Given the description of an element on the screen output the (x, y) to click on. 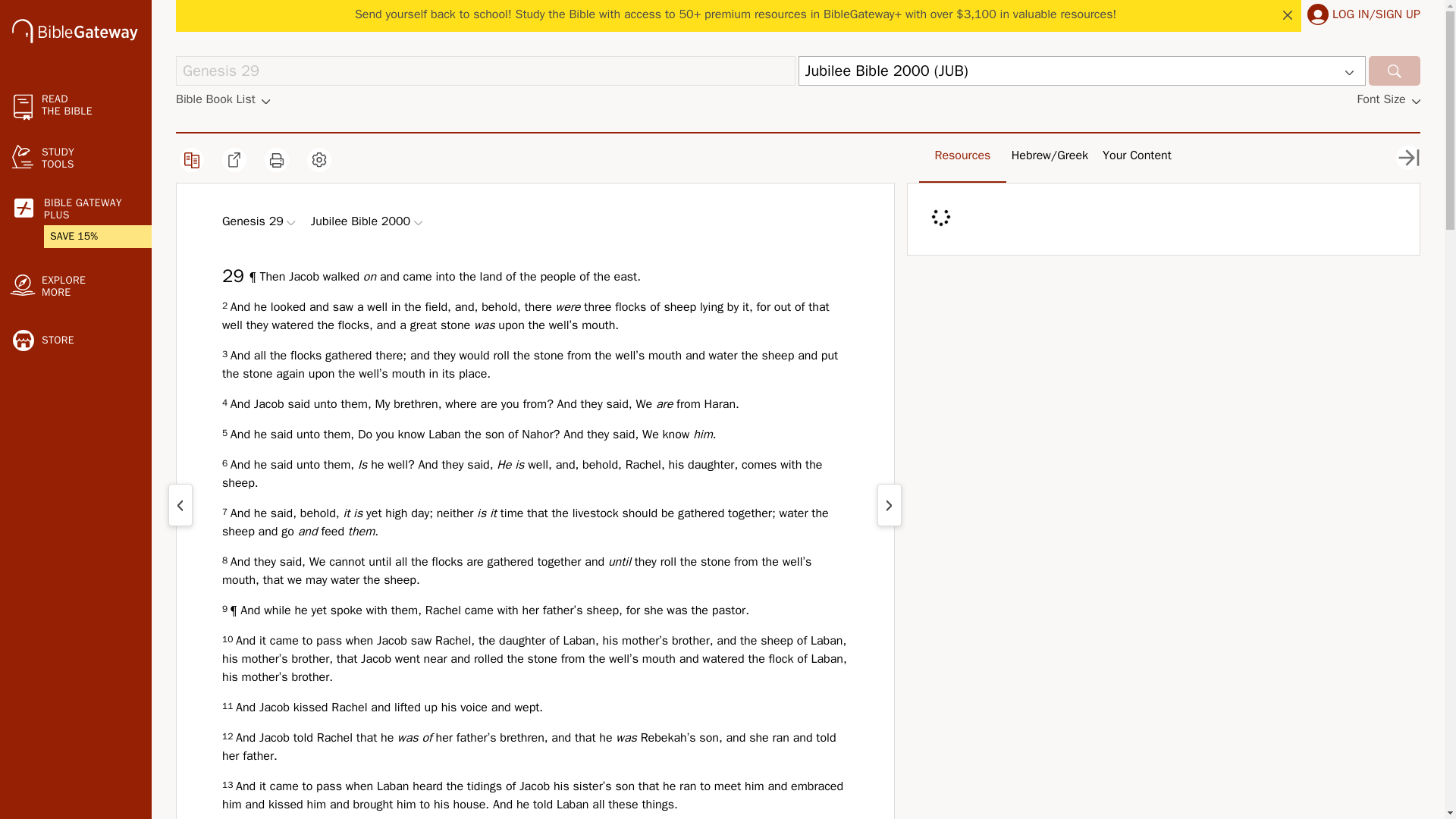
Bible Gateway logo (74, 32)
Search (1394, 70)
Bible Book List (222, 99)
close (1287, 14)
Bible Gateway logo (74, 30)
account (1317, 14)
Genesis 29 (485, 70)
Open menu (290, 222)
loading (937, 217)
Resources (962, 155)
